Given the description of an element on the screen output the (x, y) to click on. 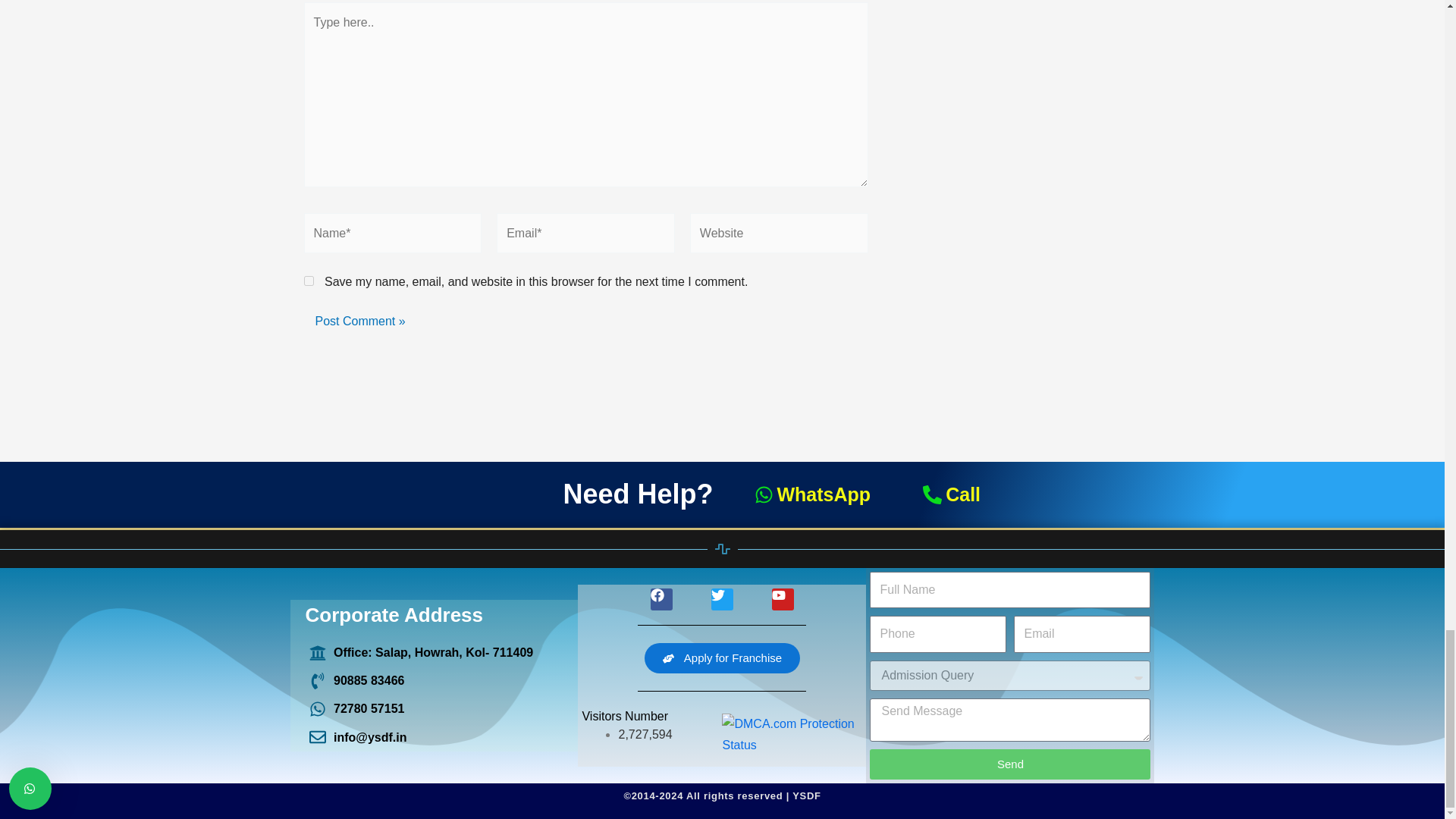
DMCA.com Protection Status (791, 733)
yes (307, 280)
